Given the description of an element on the screen output the (x, y) to click on. 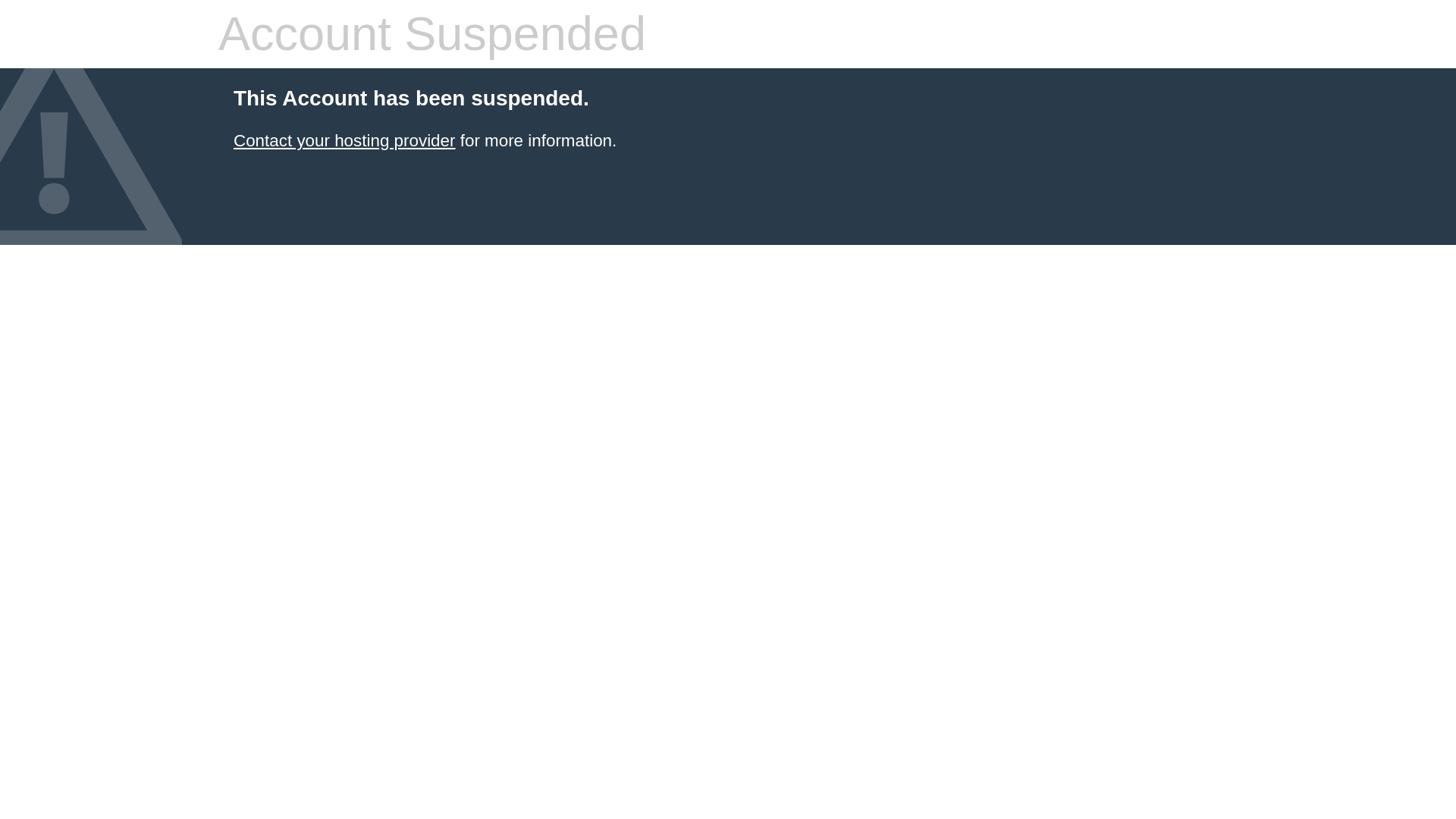
Contact your hosting provider (343, 140)
